Given the description of an element on the screen output the (x, y) to click on. 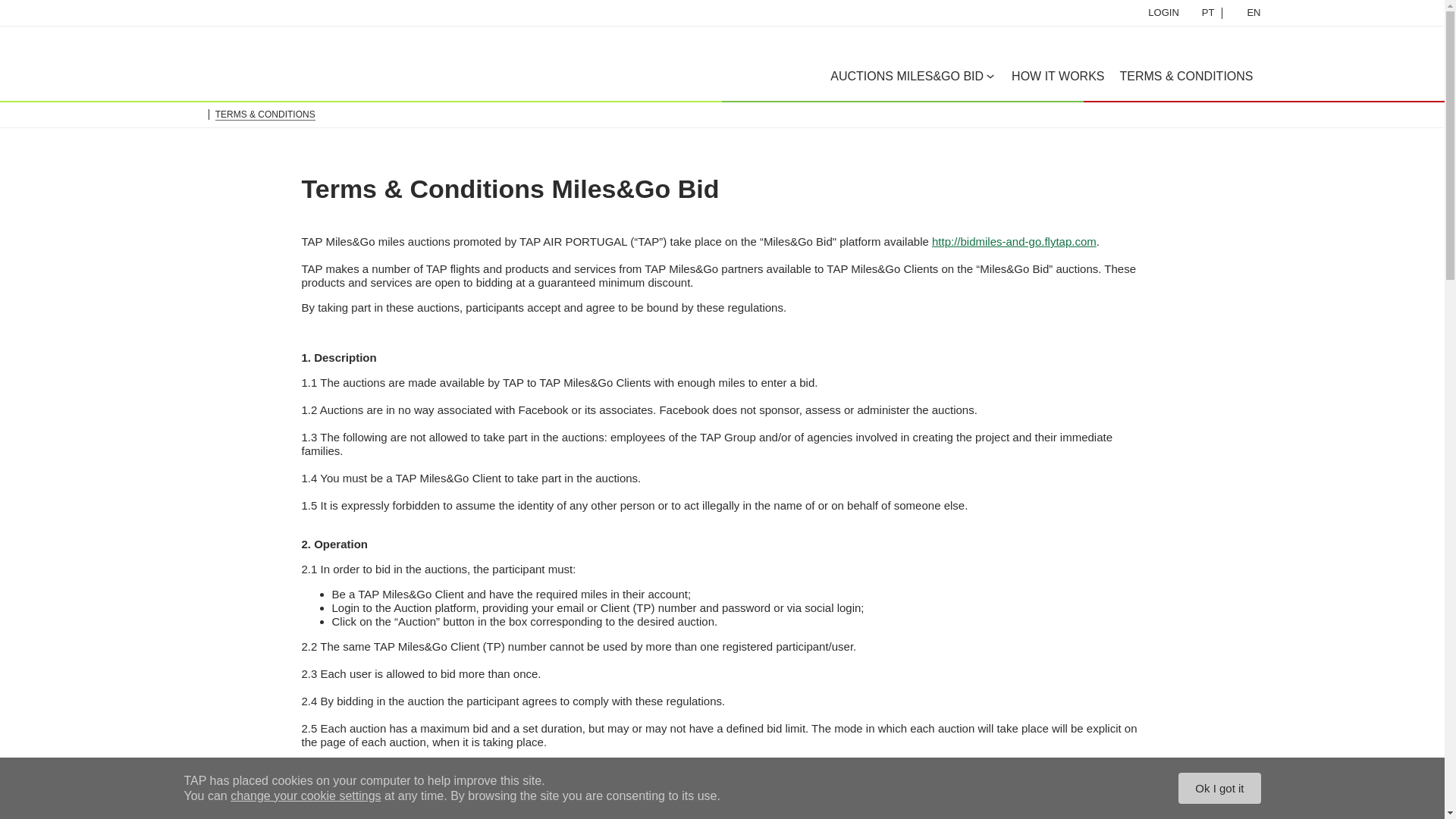
TAP AIRPORTUGAL (243, 13)
Ok I got it (1218, 788)
HOW IT WORKS (1057, 76)
Expand submenu (989, 75)
Homepage (1245, 12)
Homepage (192, 114)
LOGIN (270, 60)
Button to omit the warning (1154, 12)
